Given the description of an element on the screen output the (x, y) to click on. 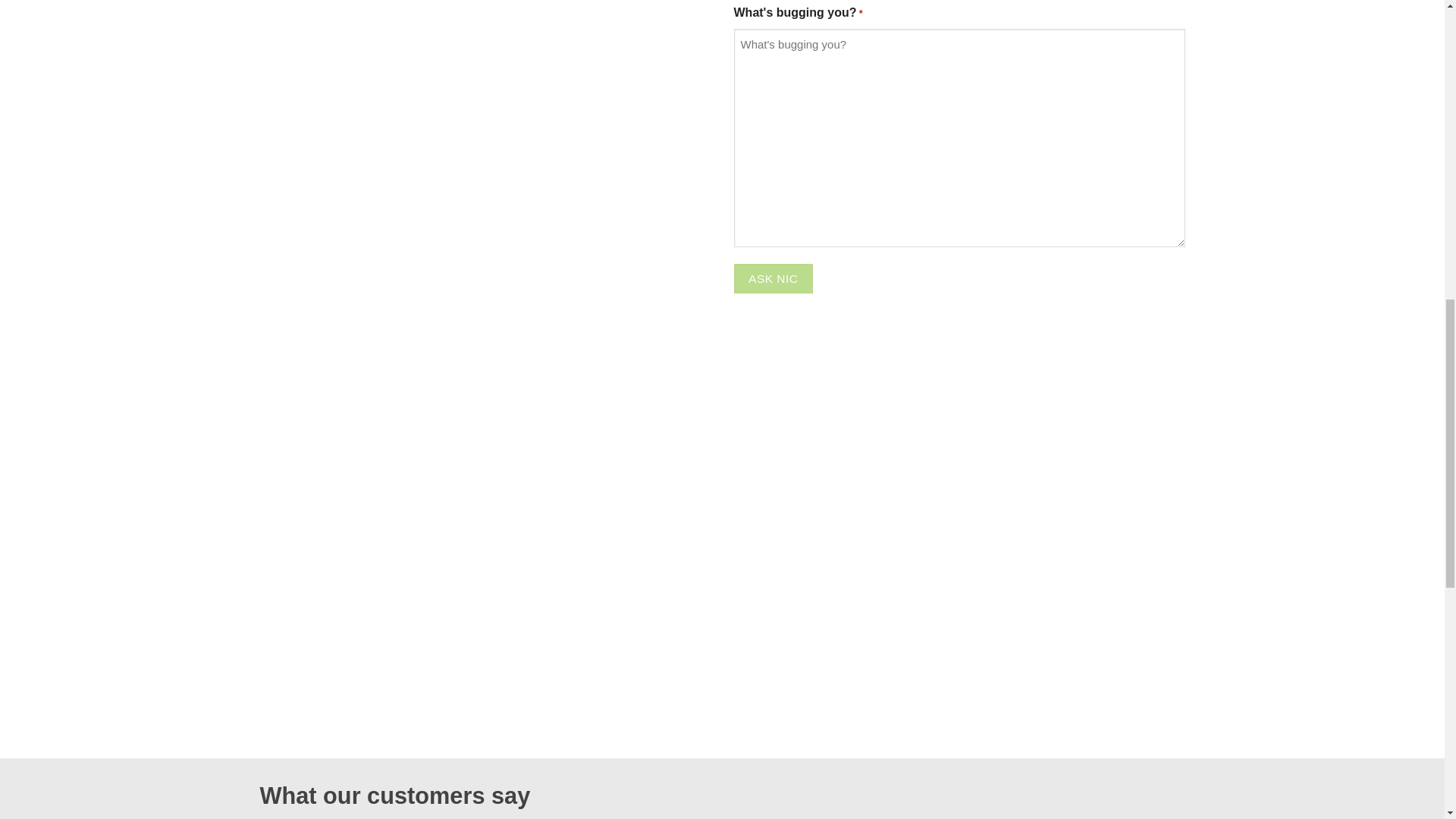
Ask Nic (773, 278)
Ask Nic (773, 278)
Contact Us 2 (410, 121)
